Given the description of an element on the screen output the (x, y) to click on. 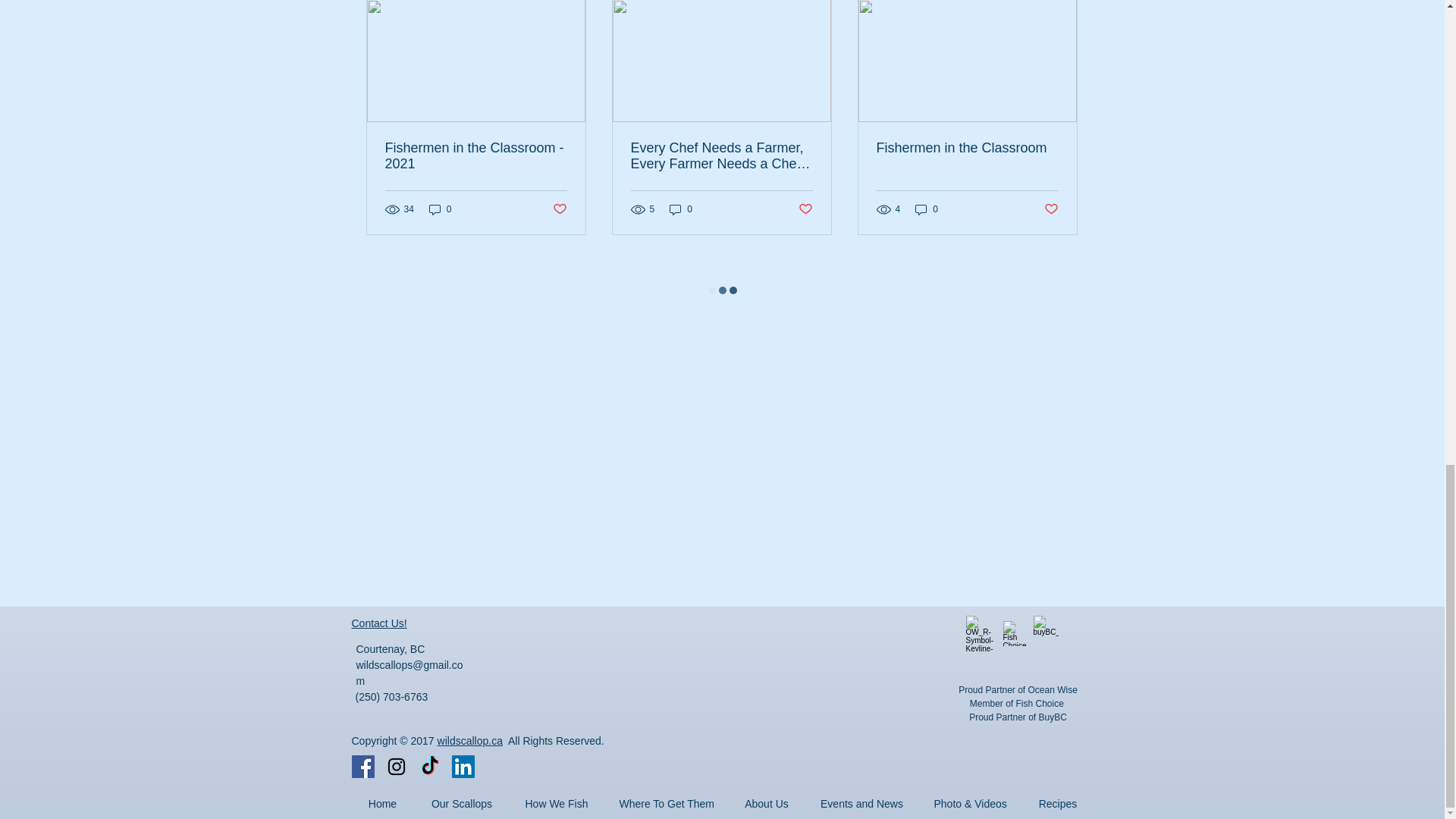
0 (440, 208)
We are a proud partner of Ocean Wise (983, 633)
West Coast Wild Scallops is a member of Fish Choice (1015, 633)
Fishermen in the Classroom - 2021 (476, 155)
Post not marked as liked (558, 209)
